Given the description of an element on the screen output the (x, y) to click on. 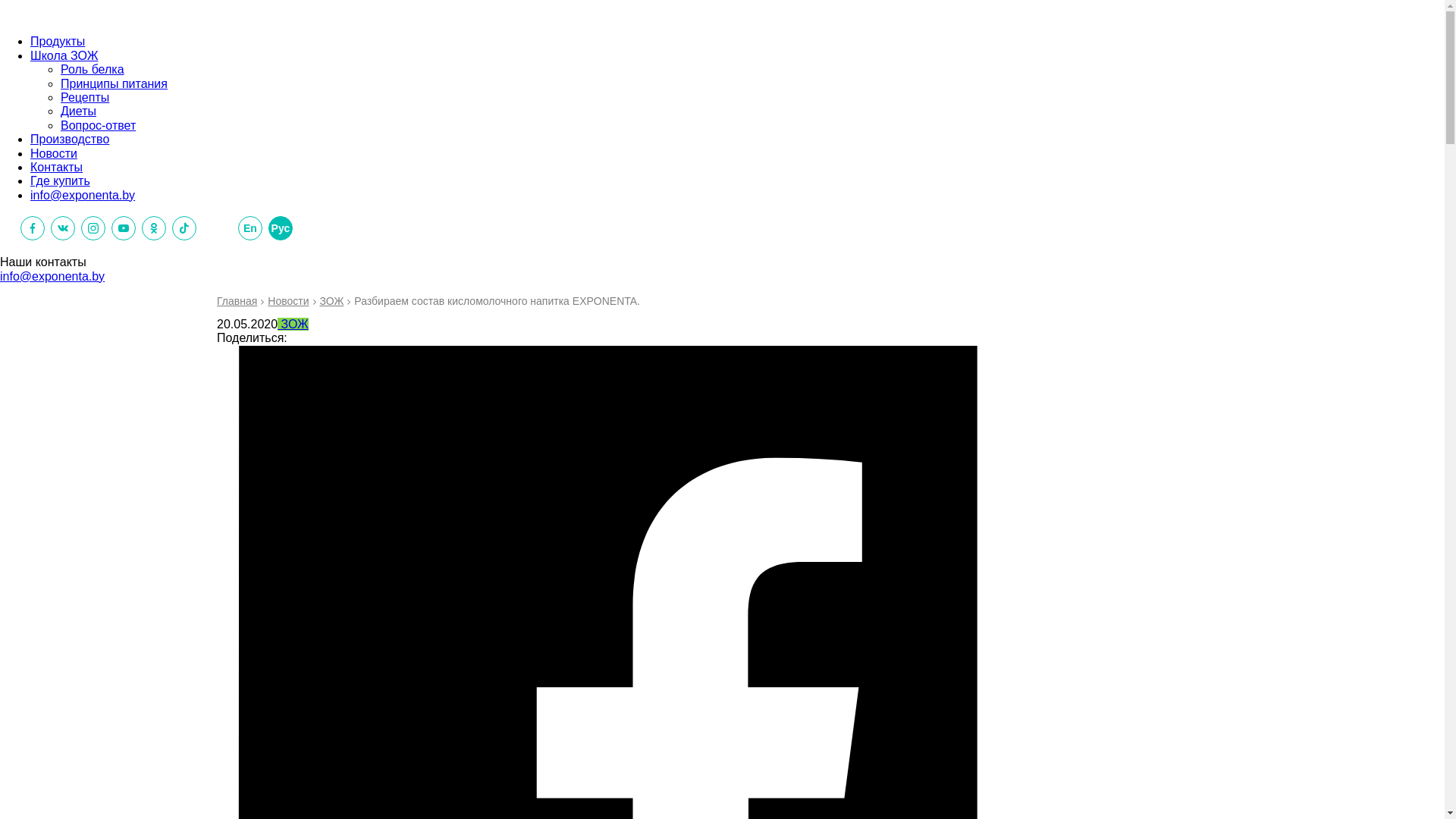
info@exponenta.by Element type: text (82, 194)
En Element type: text (250, 228)
info@exponenta.by Element type: text (52, 275)
